Given the description of an element on the screen output the (x, y) to click on. 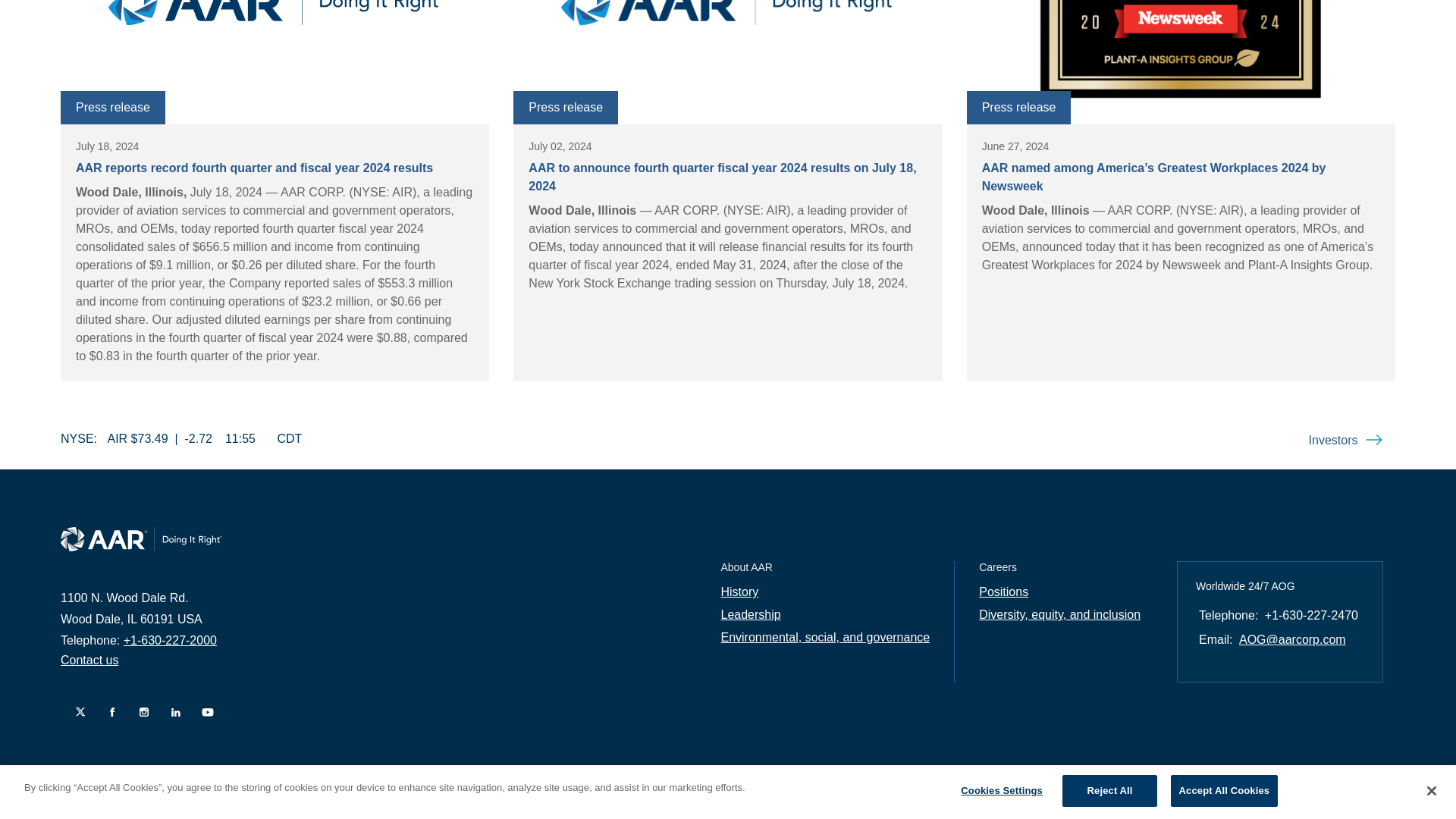
YouTube (203, 711)
X (76, 711)
AAR Doing It Right logo (727, 62)
Instagram (140, 711)
LinkedIn (172, 711)
AAR news logo (275, 62)
Stock (186, 437)
Facebook (108, 711)
AAR Doing it Right logo (141, 539)
